Given the description of an element on the screen output the (x, y) to click on. 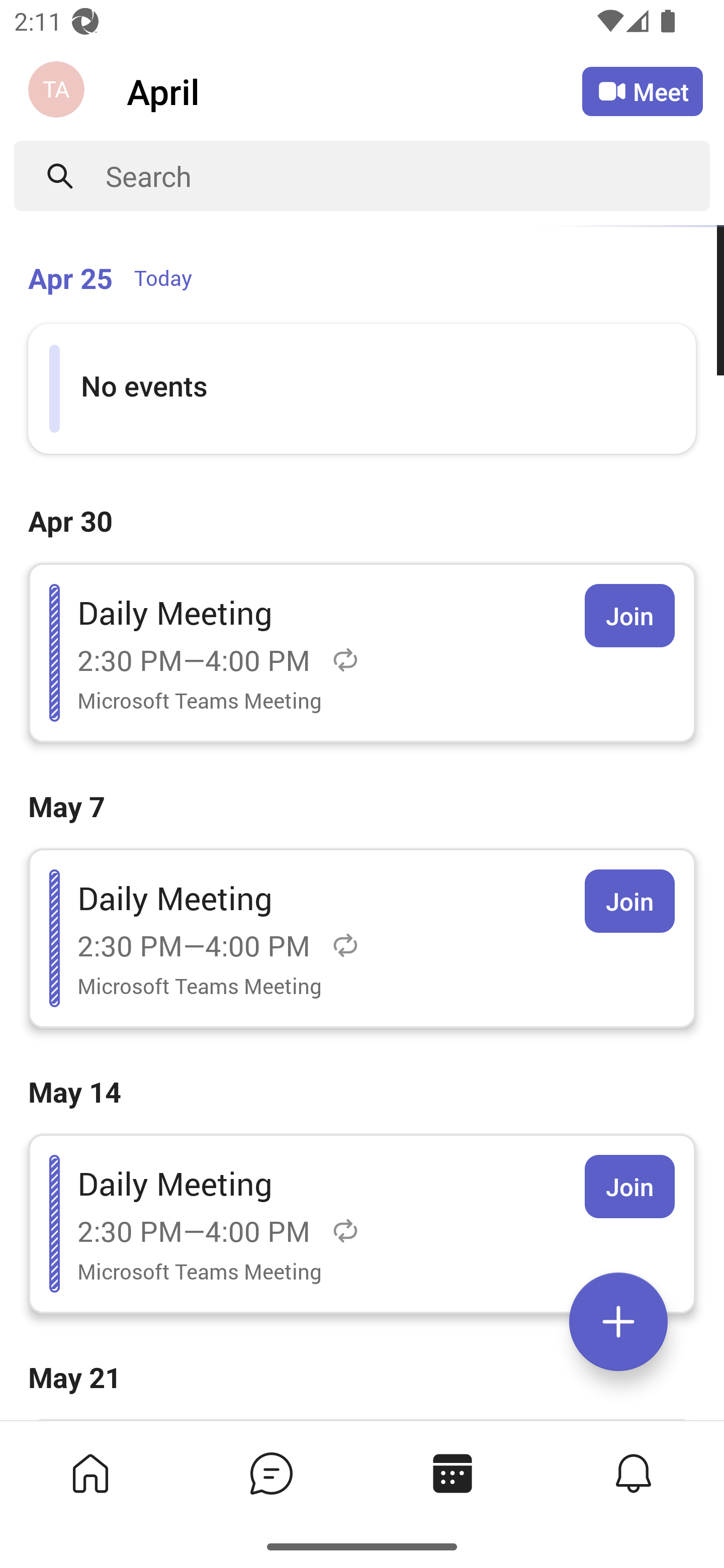
Navigation (58, 91)
Meet Meet now or join with an ID (642, 91)
April April Calendar Agenda View (354, 90)
Search (407, 176)
Join (629, 615)
Join (629, 900)
Join (629, 1186)
Expand meetings menu (618, 1321)
Home tab,1 of 4, not selected (89, 1472)
Chat tab,2 of 4, not selected (270, 1472)
Calendar tab, 3 of 4 (451, 1472)
Activity tab,4 of 4, not selected (632, 1472)
